Given the description of an element on the screen output the (x, y) to click on. 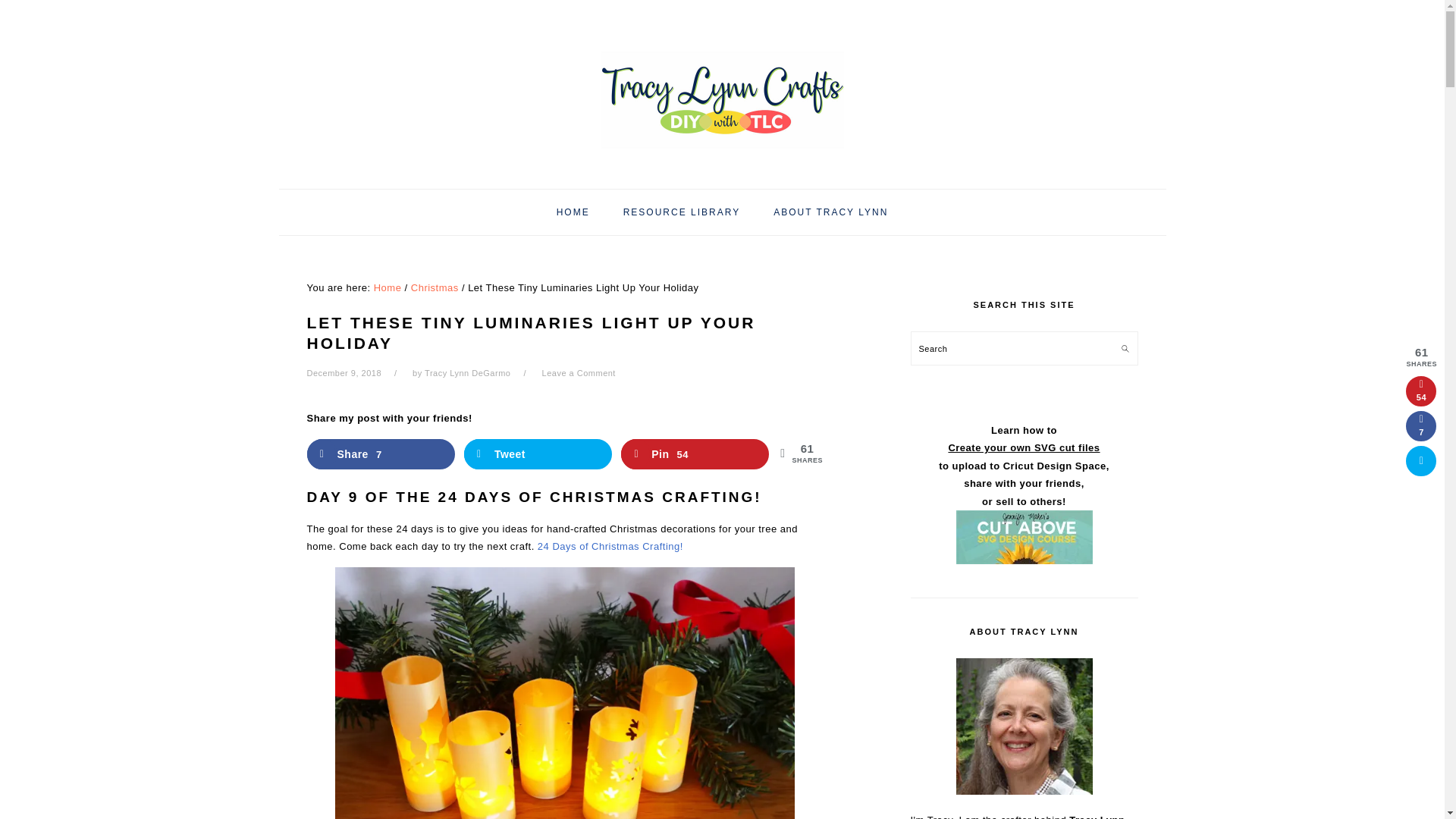
Share on Twitter (1420, 460)
Save to Pinterest (1420, 390)
Home (387, 287)
Christmas (434, 287)
TRACY LYNN CRAFTS (721, 89)
Share on Facebook (379, 453)
Share7 (379, 453)
